Given the description of an element on the screen output the (x, y) to click on. 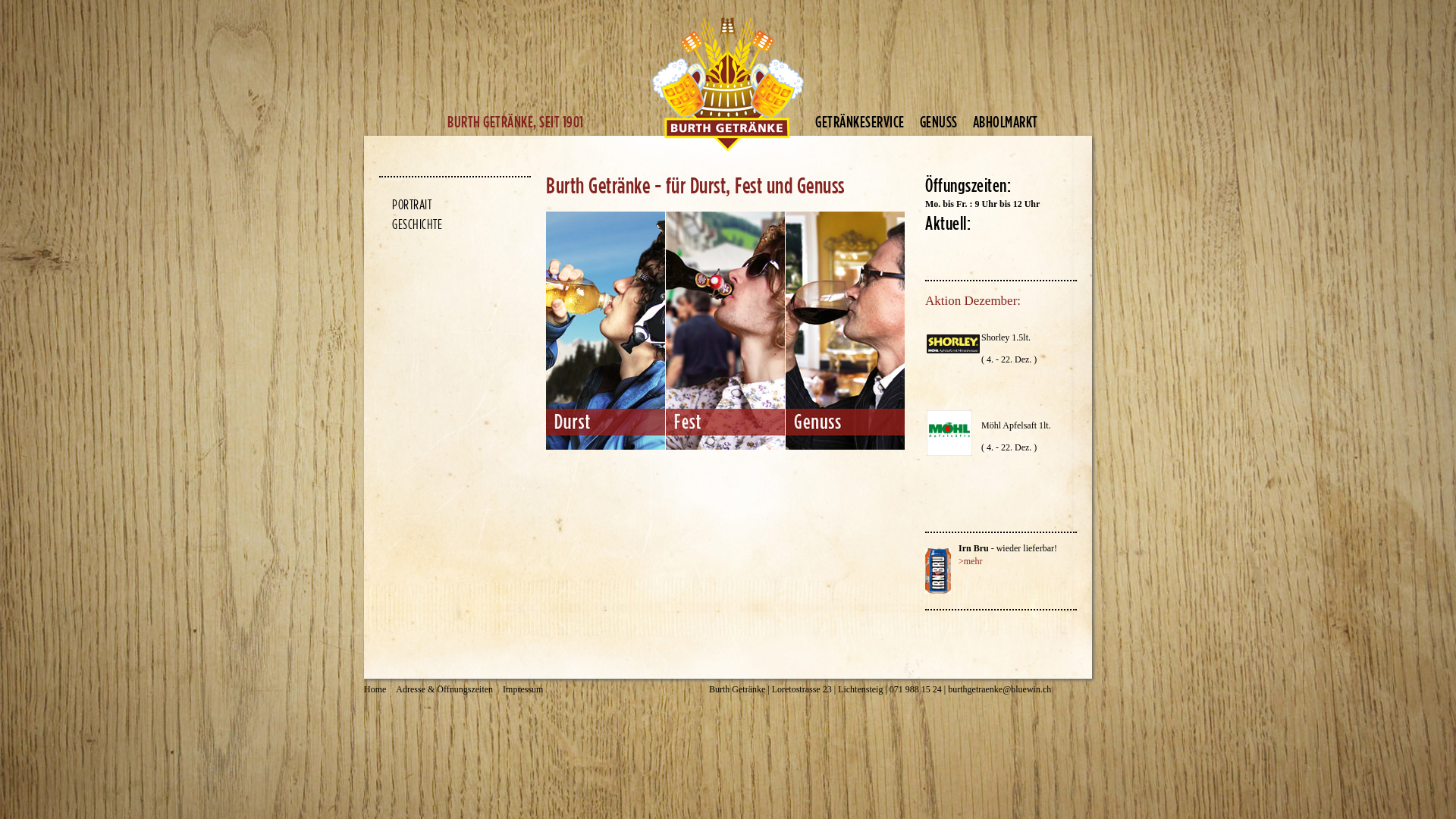
burthgetraenke@bluewin.ch Element type: text (999, 689)
GENUSS Element type: text (945, 121)
GESCHICHTE Element type: text (411, 223)
ABHOLMARKT Element type: text (1012, 121)
Impressum Element type: text (522, 689)
>mehr Element type: text (970, 560)
PORTRAIT Element type: text (405, 204)
Home Element type: text (374, 689)
